Given the description of an element on the screen output the (x, y) to click on. 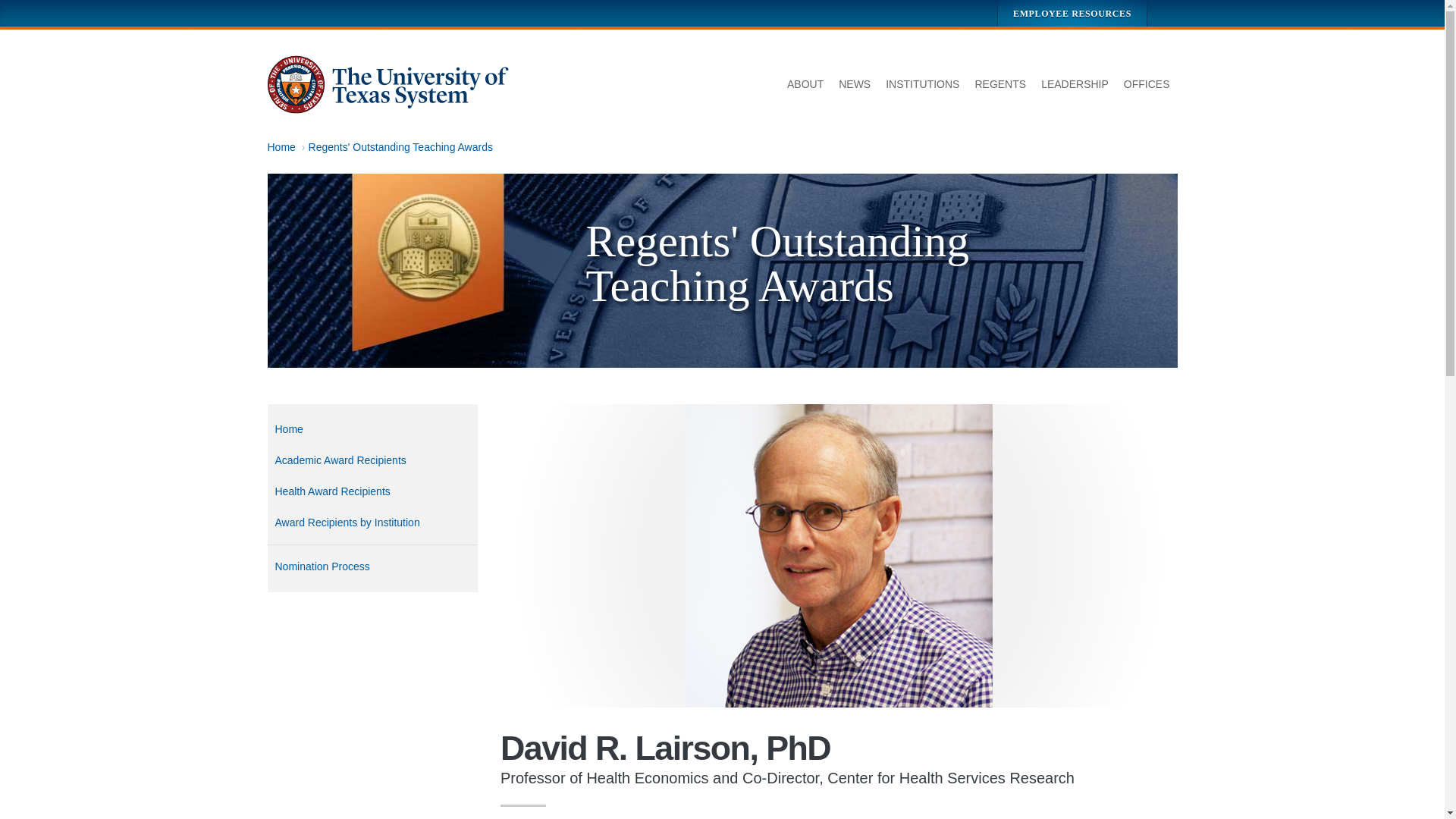
REGENTS (999, 84)
INSTITUTIONS (921, 84)
Home (387, 84)
ABOUT (804, 84)
Home (280, 146)
Home (371, 429)
Regents' Outstanding Teaching Awards (400, 146)
LEADERSHIP (1074, 84)
Nomination Process (371, 566)
NEWS (854, 84)
EMPLOYEE RESOURCES (1072, 13)
Health Awards (371, 490)
Academic Awards (371, 460)
Regents' Outstanding Teaching Awards (371, 429)
Health Award Recipients (371, 490)
